Given the description of an element on the screen output the (x, y) to click on. 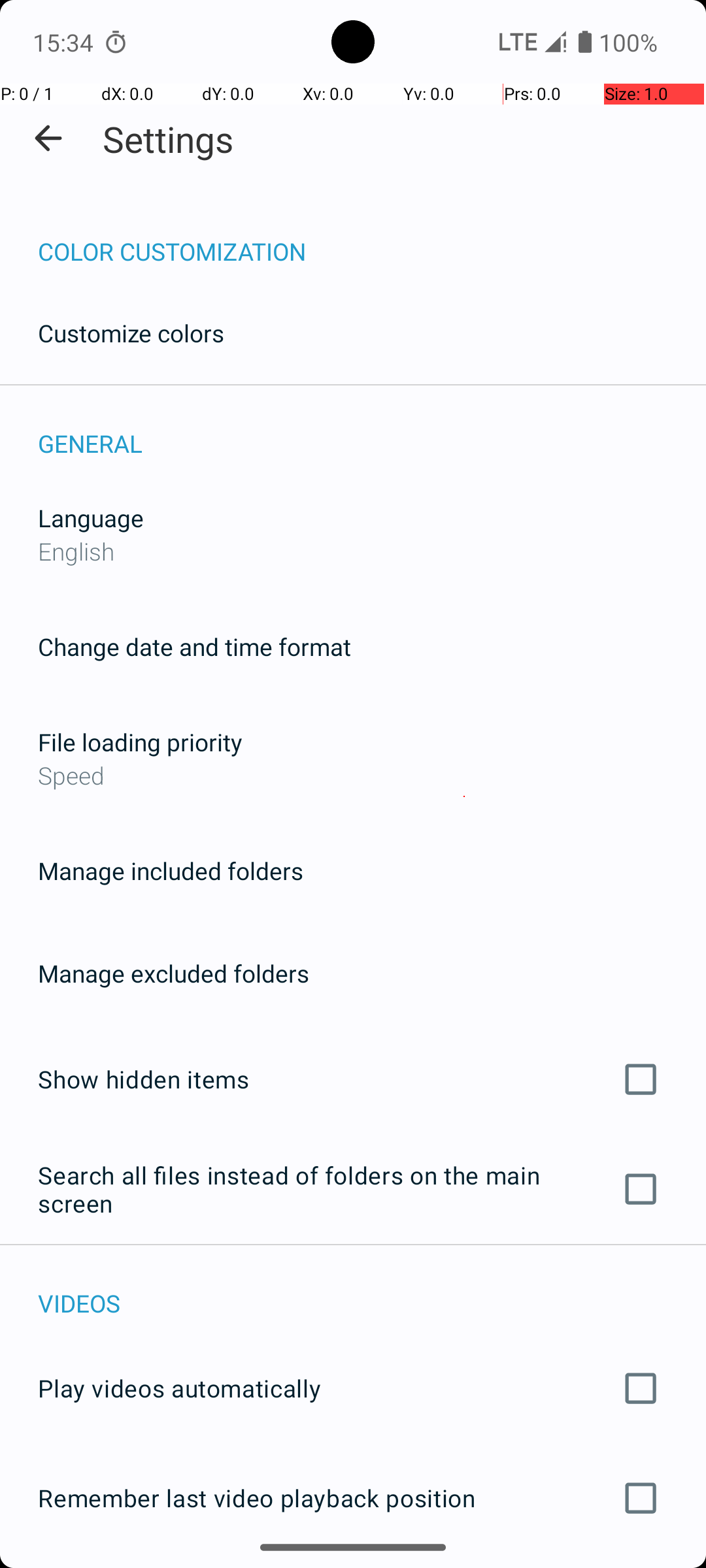
VIDEOS Element type: android.widget.TextView (371, 1289)
Change date and time format Element type: android.widget.TextView (194, 646)
File loading priority Element type: android.widget.TextView (139, 741)
Speed Element type: android.widget.TextView (352, 774)
Manage included folders Element type: android.widget.TextView (170, 870)
Manage excluded folders Element type: android.widget.TextView (173, 972)
Show hidden items Element type: android.widget.CheckBox (352, 1079)
Search all files instead of folders on the main screen Element type: android.widget.CheckBox (352, 1188)
Play videos automatically Element type: android.widget.CheckBox (352, 1388)
Remember last video playback position Element type: android.widget.CheckBox (352, 1497)
Loop videos Element type: android.widget.CheckBox (352, 1567)
